Given the description of an element on the screen output the (x, y) to click on. 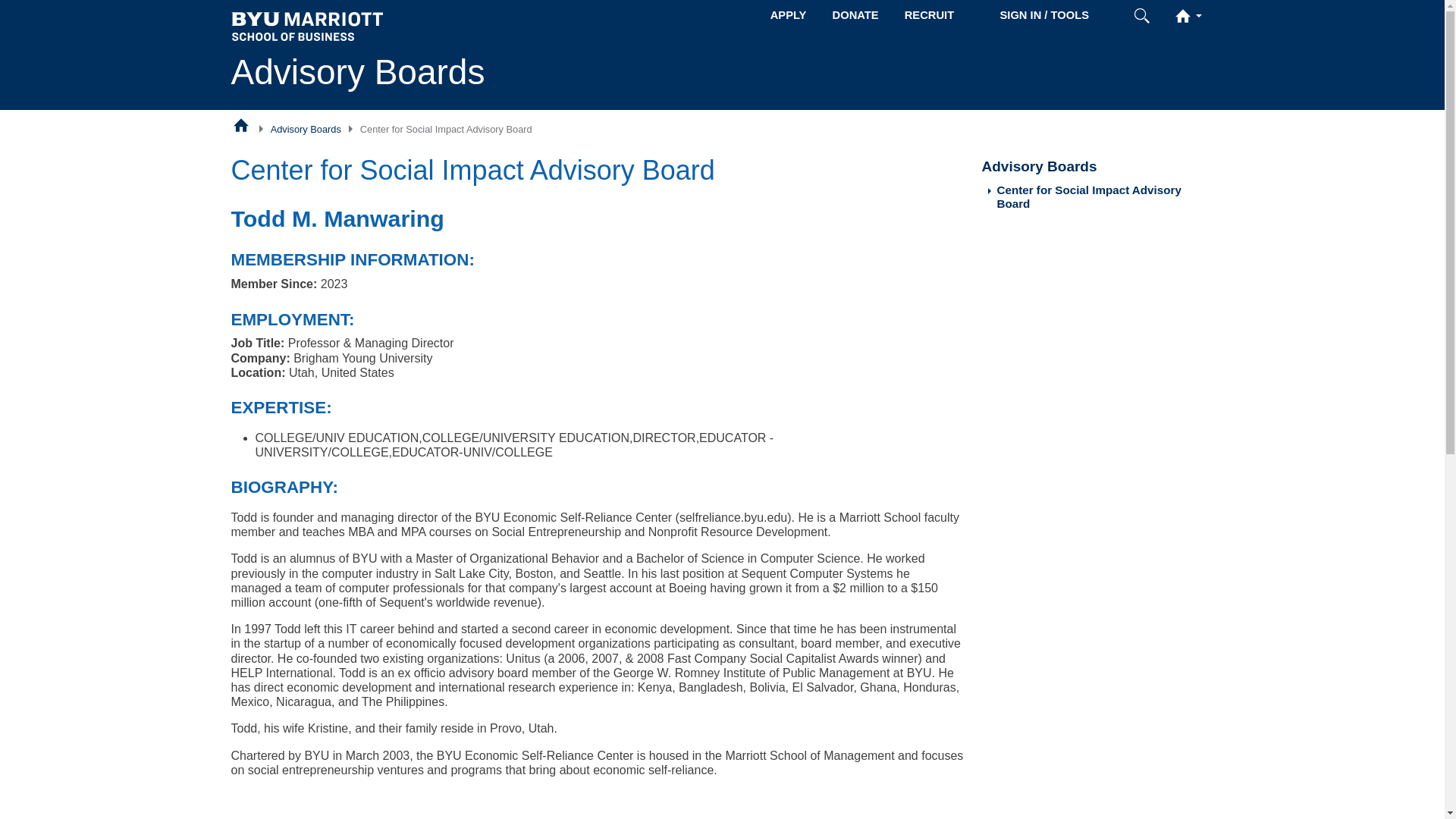
APPLY (788, 15)
DONATE (855, 15)
Advisory Boards (305, 129)
BYU Marriott School of Business Home Page (240, 124)
RECRUIT (929, 15)
